Given the description of an element on the screen output the (x, y) to click on. 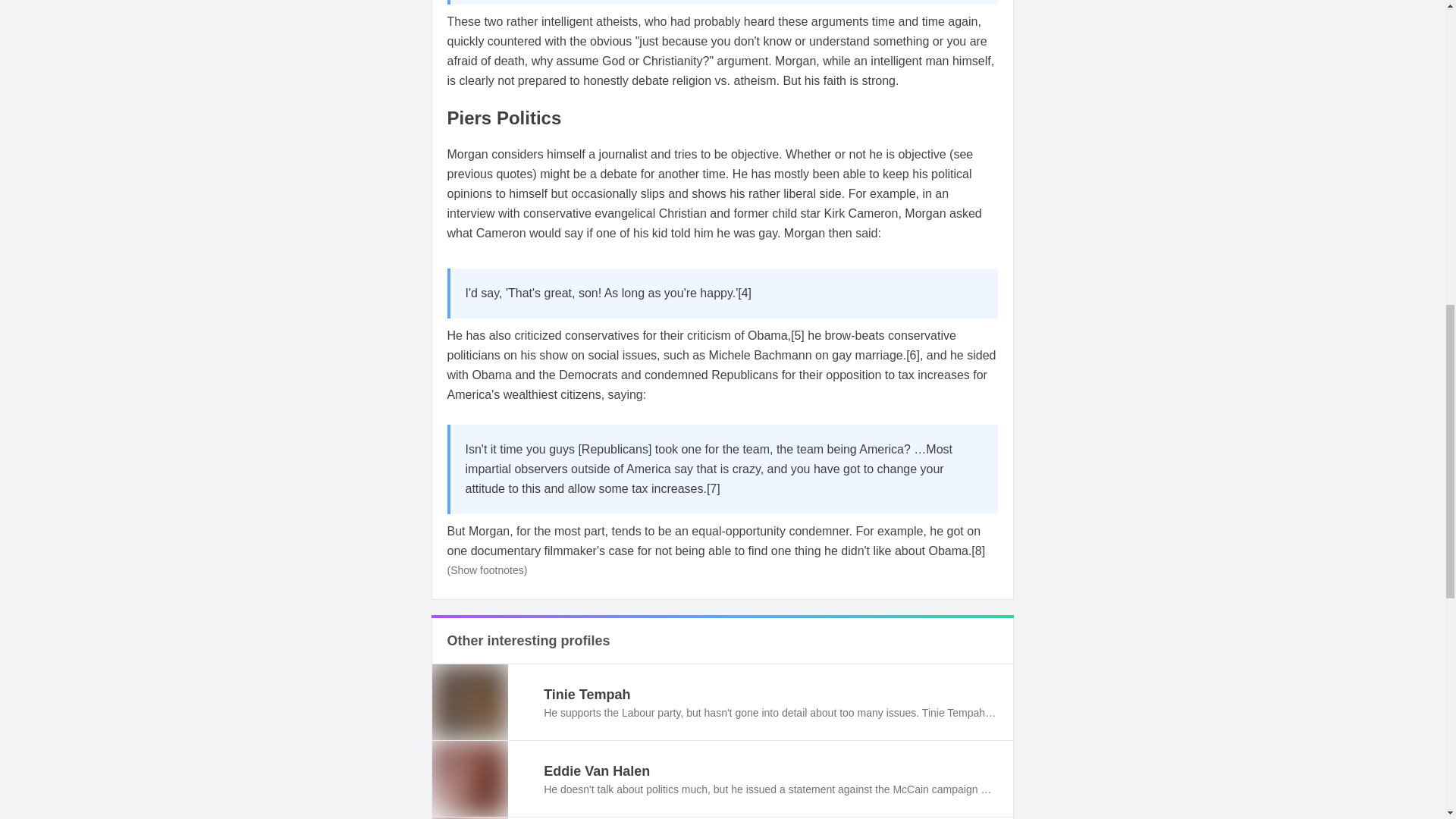
Michele Bachmann and Piers Morgan spar about gay marriage (912, 354)
Barackward: CNN's Piers Morgan Mocks Obama "Documentary." (978, 550)
Interview Reveals Morgan's Liberal Bias (797, 335)
